Given the description of an element on the screen output the (x, y) to click on. 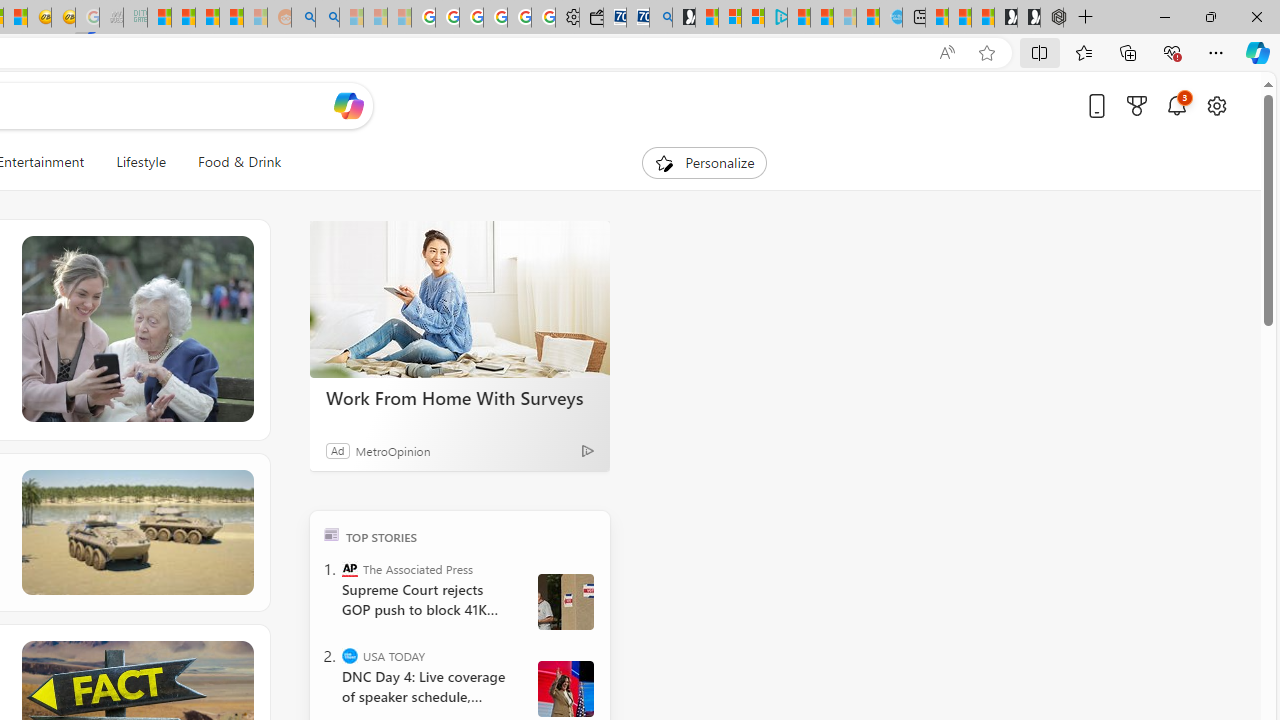
Wallet (590, 17)
